Given the description of an element on the screen output the (x, y) to click on. 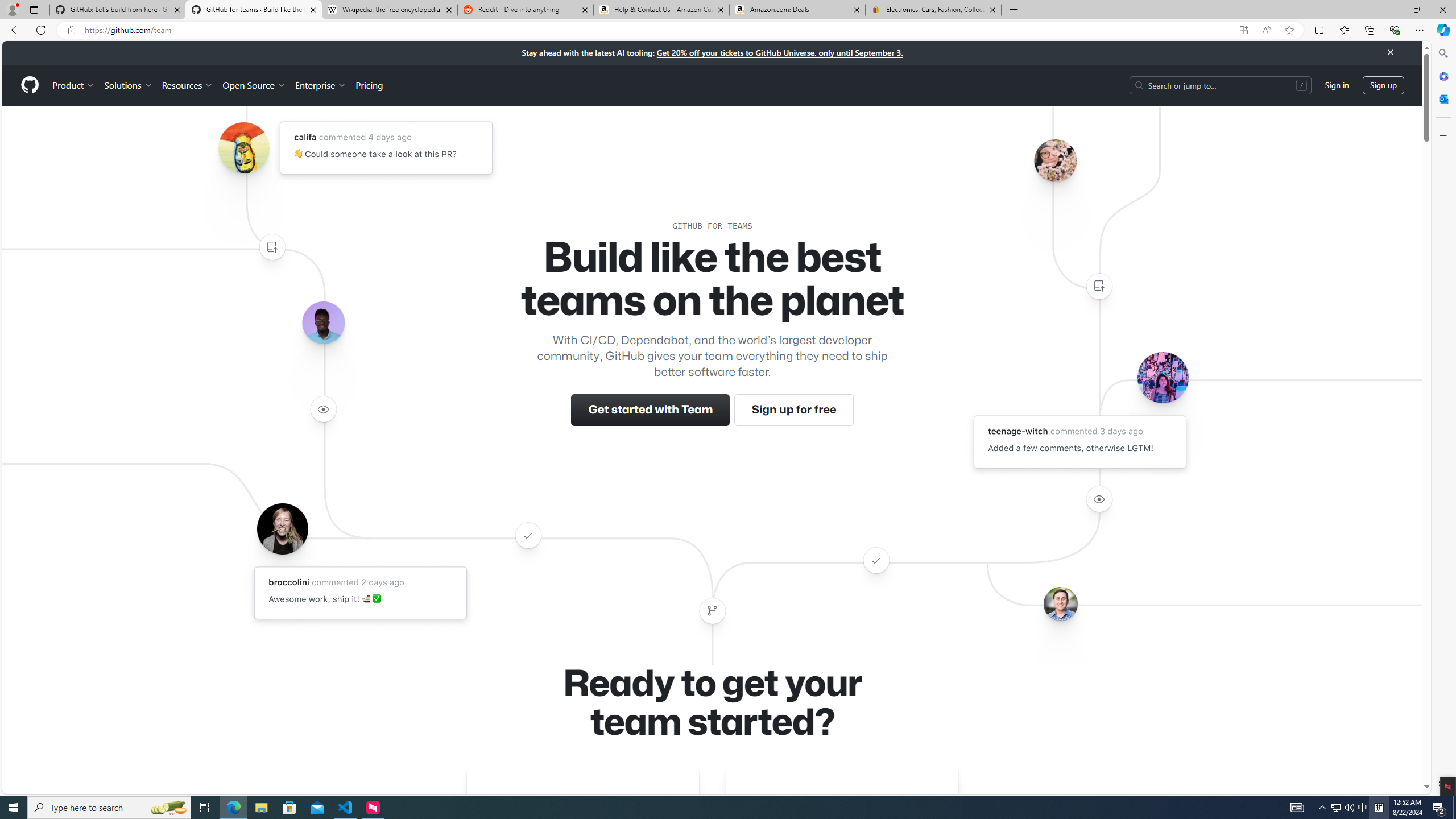
Product (74, 84)
App available. Install GitHub (1243, 29)
Solutions (128, 84)
Homepage (29, 85)
Enterprise (319, 84)
Pricing (368, 84)
Pricing (368, 84)
